Given the description of an element on the screen output the (x, y) to click on. 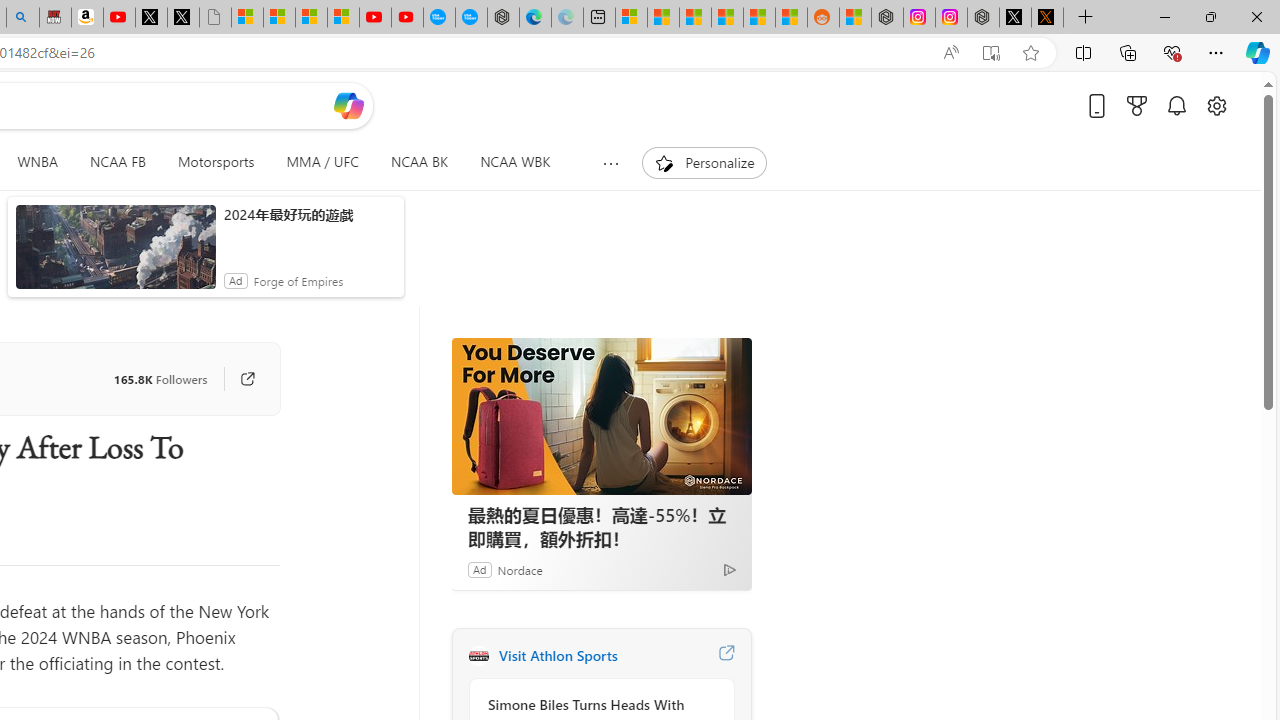
Collections (1128, 52)
WNBA (38, 162)
The most popular Google 'how to' searches (471, 17)
Read aloud this page (Ctrl+Shift+U) (950, 53)
Nordace (519, 569)
NCAA FB (118, 162)
Microsoft rewards (1137, 105)
Forge of Empires (298, 280)
Day 1: Arriving in Yemen (surreal to be here) - YouTube (118, 17)
Settings and more (Alt+F) (1215, 52)
NCAA FB (117, 162)
Open settings (1216, 105)
Open Copilot (347, 105)
